Given the description of an element on the screen output the (x, y) to click on. 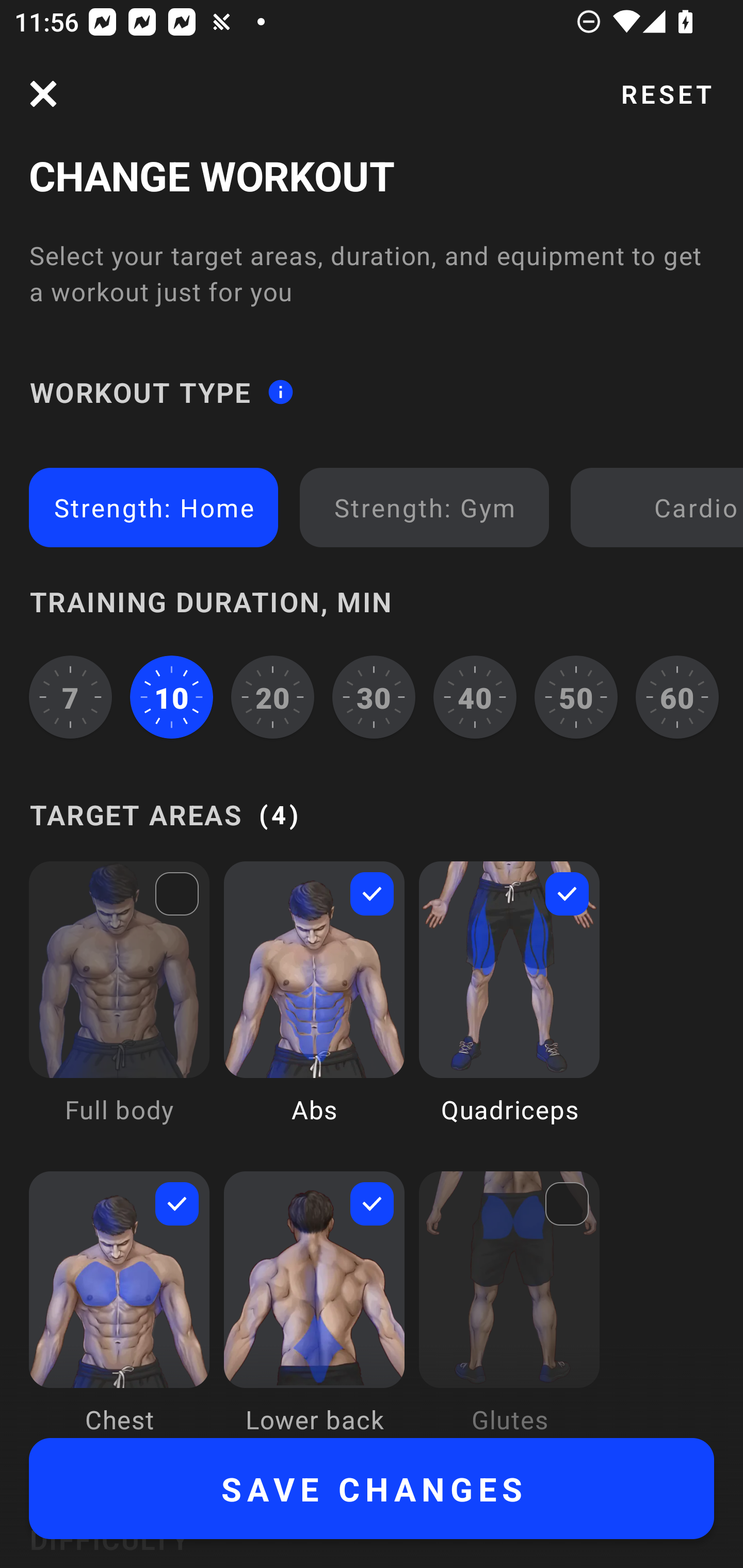
Navigation icon (43, 93)
RESET (666, 93)
Workout type information button (280, 391)
Strength: Gym (423, 507)
Cardio (660, 507)
7 (70, 696)
10 (171, 696)
20 (272, 696)
30 (373, 696)
40 (474, 696)
50 (575, 696)
60 (676, 696)
Full body (118, 1007)
Glutes (509, 1304)
SAVE CHANGES (371, 1488)
